Given the description of an element on the screen output the (x, y) to click on. 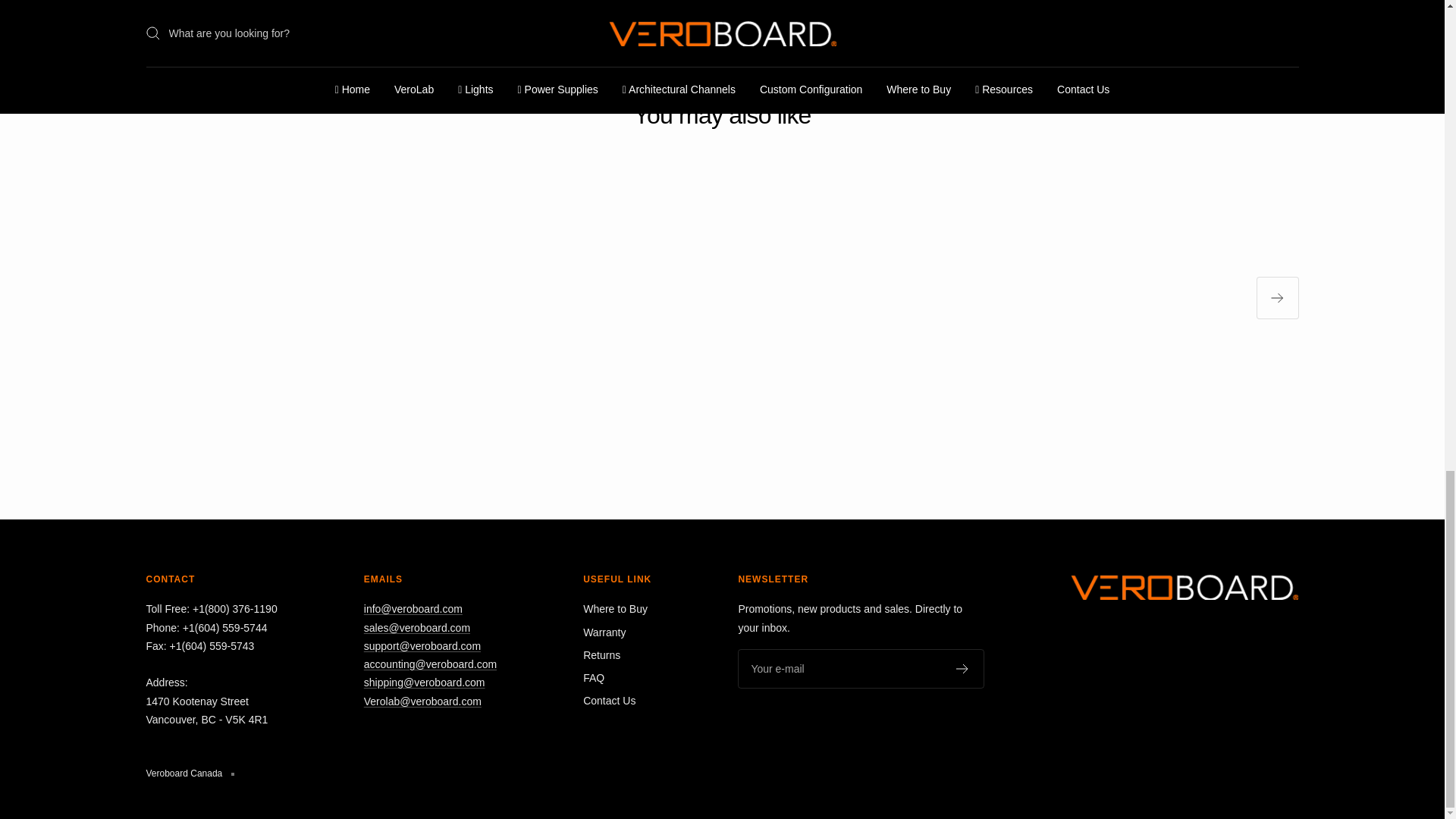
Register (962, 668)
